Given the description of an element on the screen output the (x, y) to click on. 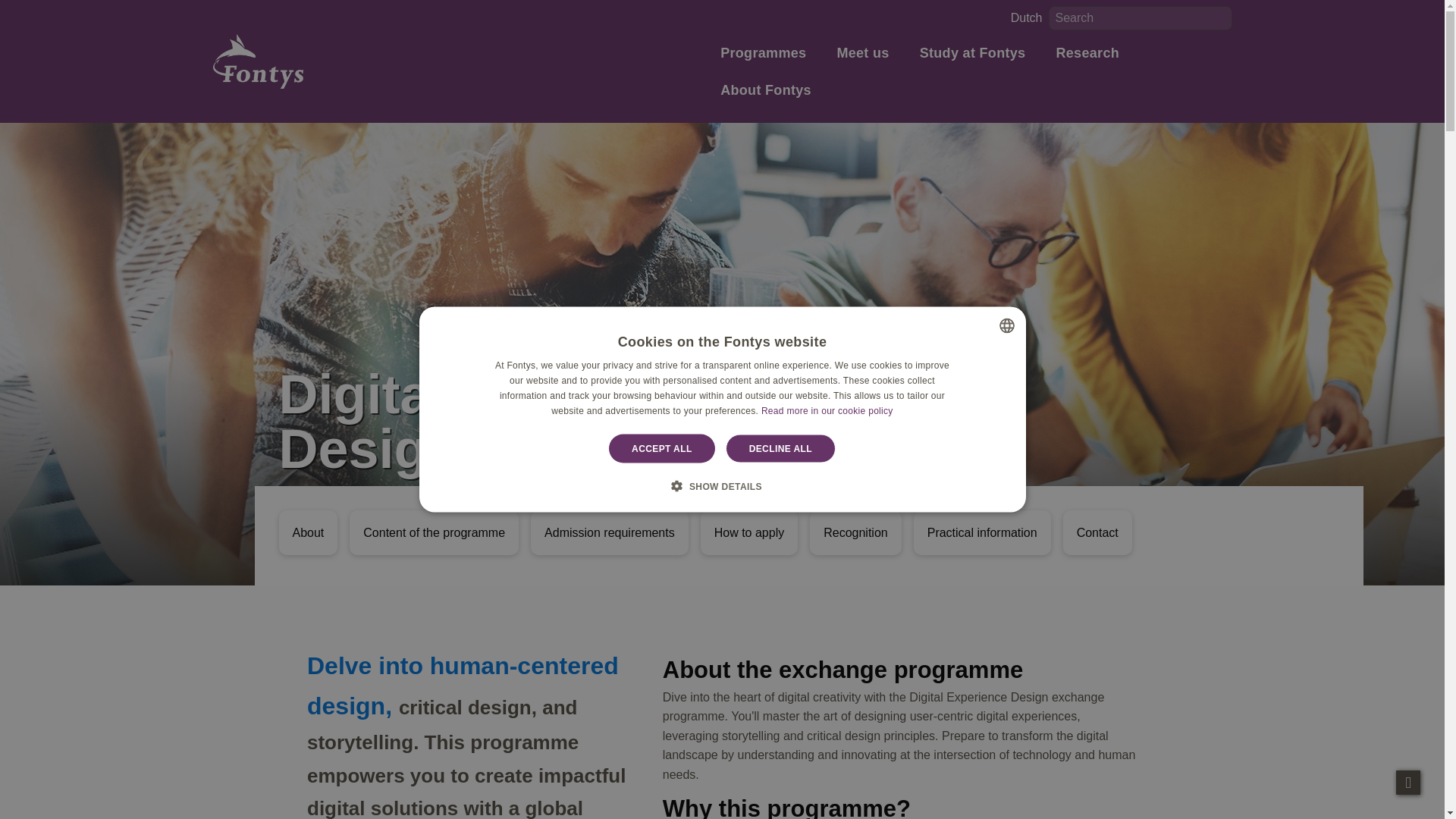
About (308, 532)
Ga naar de homepage (257, 61)
Meet us (870, 54)
Research (1095, 54)
Content of the programme (433, 532)
Search (1219, 17)
How to apply (748, 532)
Recognition (855, 532)
Admission requirements (609, 532)
About Fontys (774, 91)
